Given the description of an element on the screen output the (x, y) to click on. 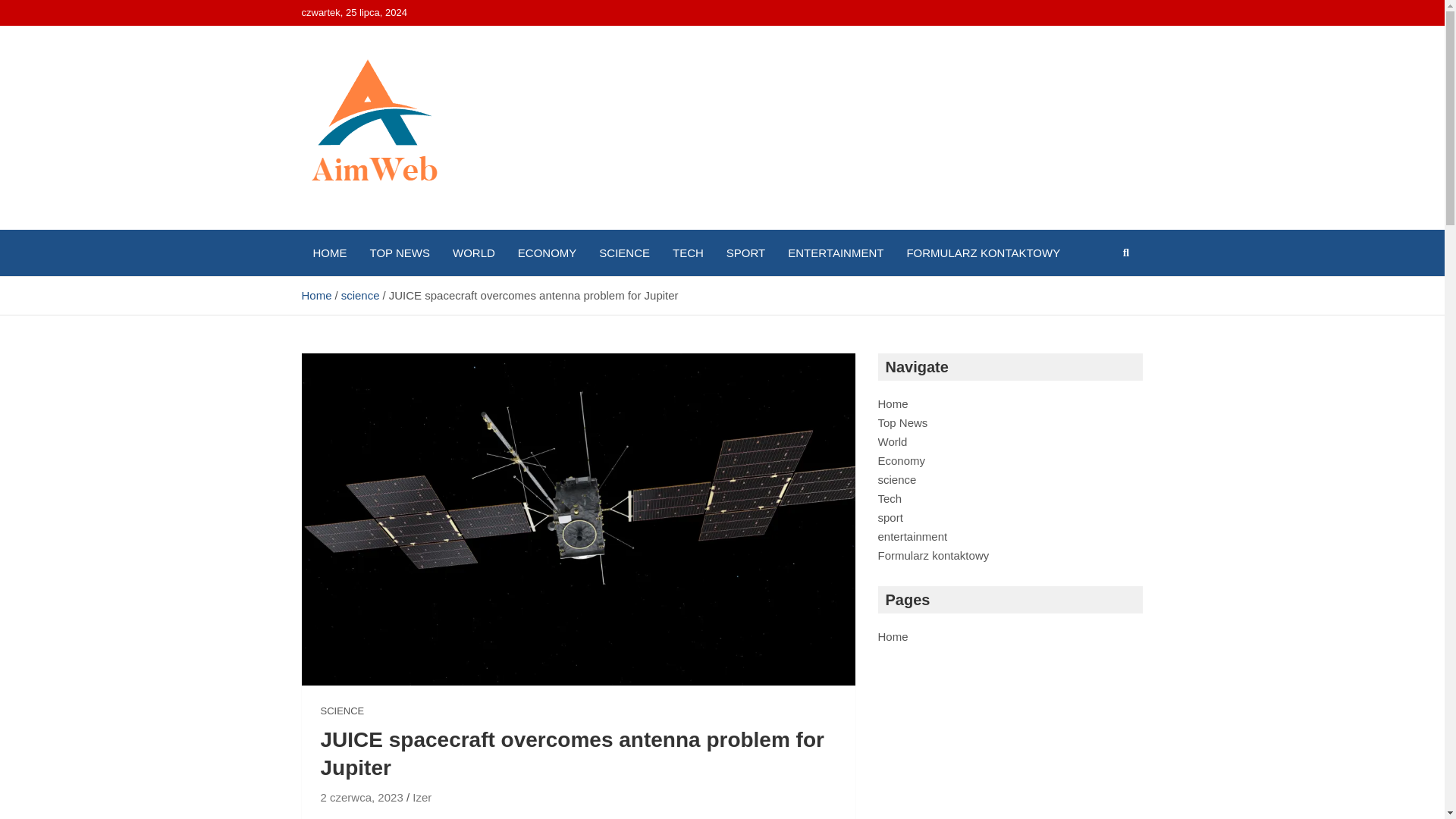
AimWeb (361, 226)
SCIENCE (342, 711)
World (892, 440)
Home (892, 635)
science (360, 295)
TECH (687, 253)
Home (316, 295)
Tech (889, 498)
TOP NEWS (399, 253)
Formularz kontaktowy (933, 554)
entertainment (912, 535)
Home (892, 403)
FORMULARZ KONTAKTOWY (983, 253)
science (897, 479)
WORLD (473, 253)
